Given the description of an element on the screen output the (x, y) to click on. 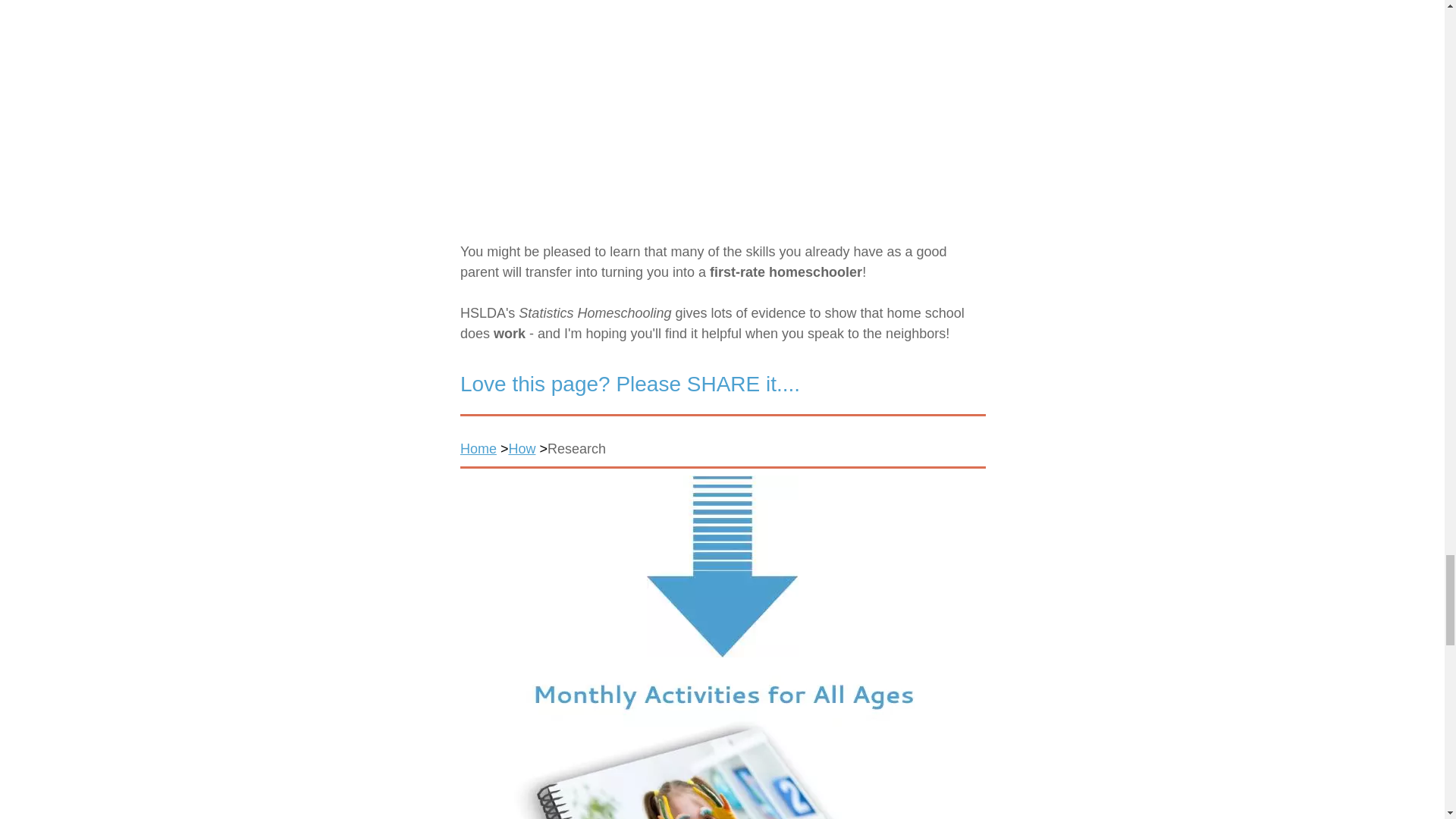
free homeschool newsletter (722, 742)
